Given the description of an element on the screen output the (x, y) to click on. 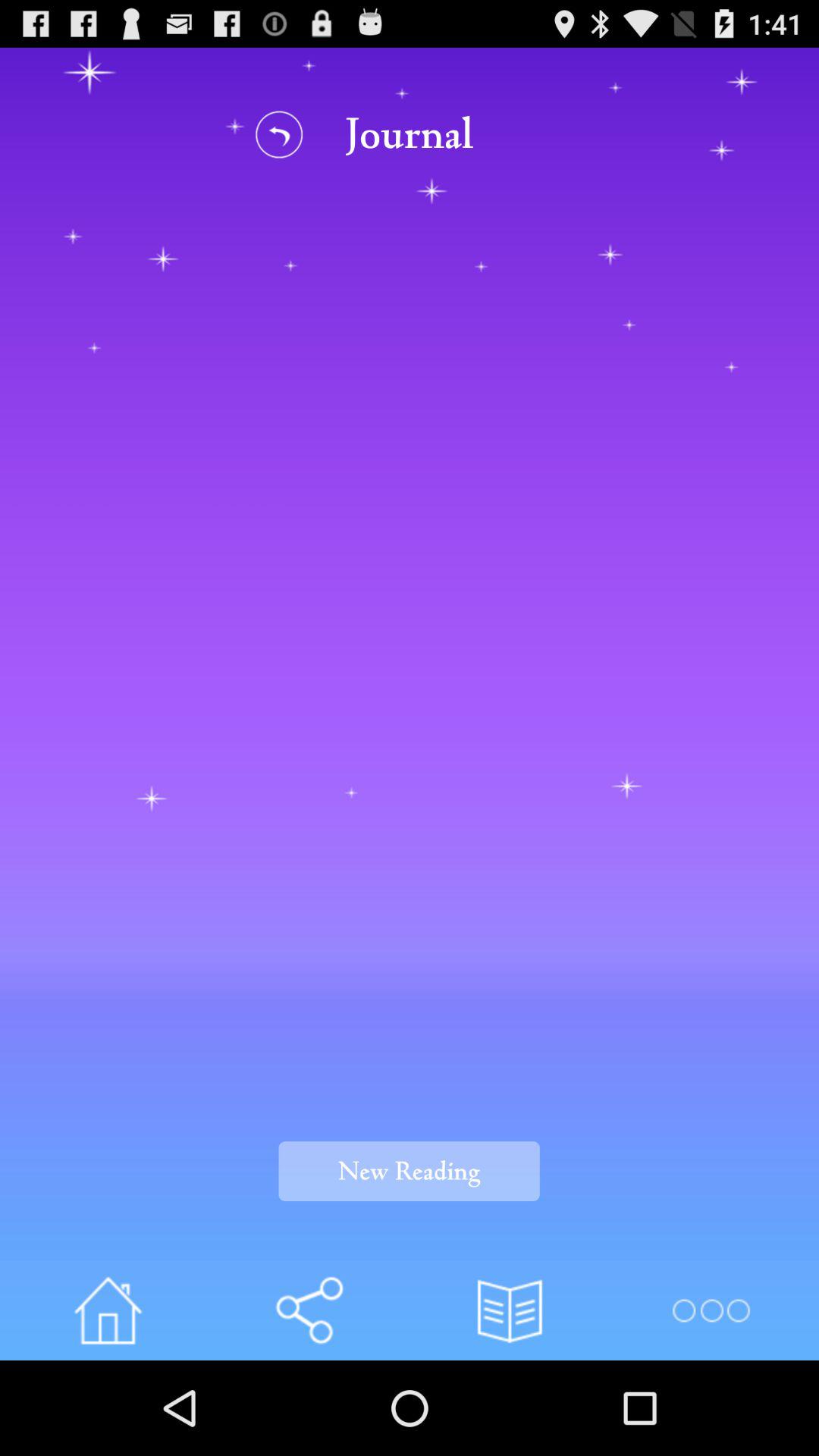
go back (279, 133)
